Given the description of an element on the screen output the (x, y) to click on. 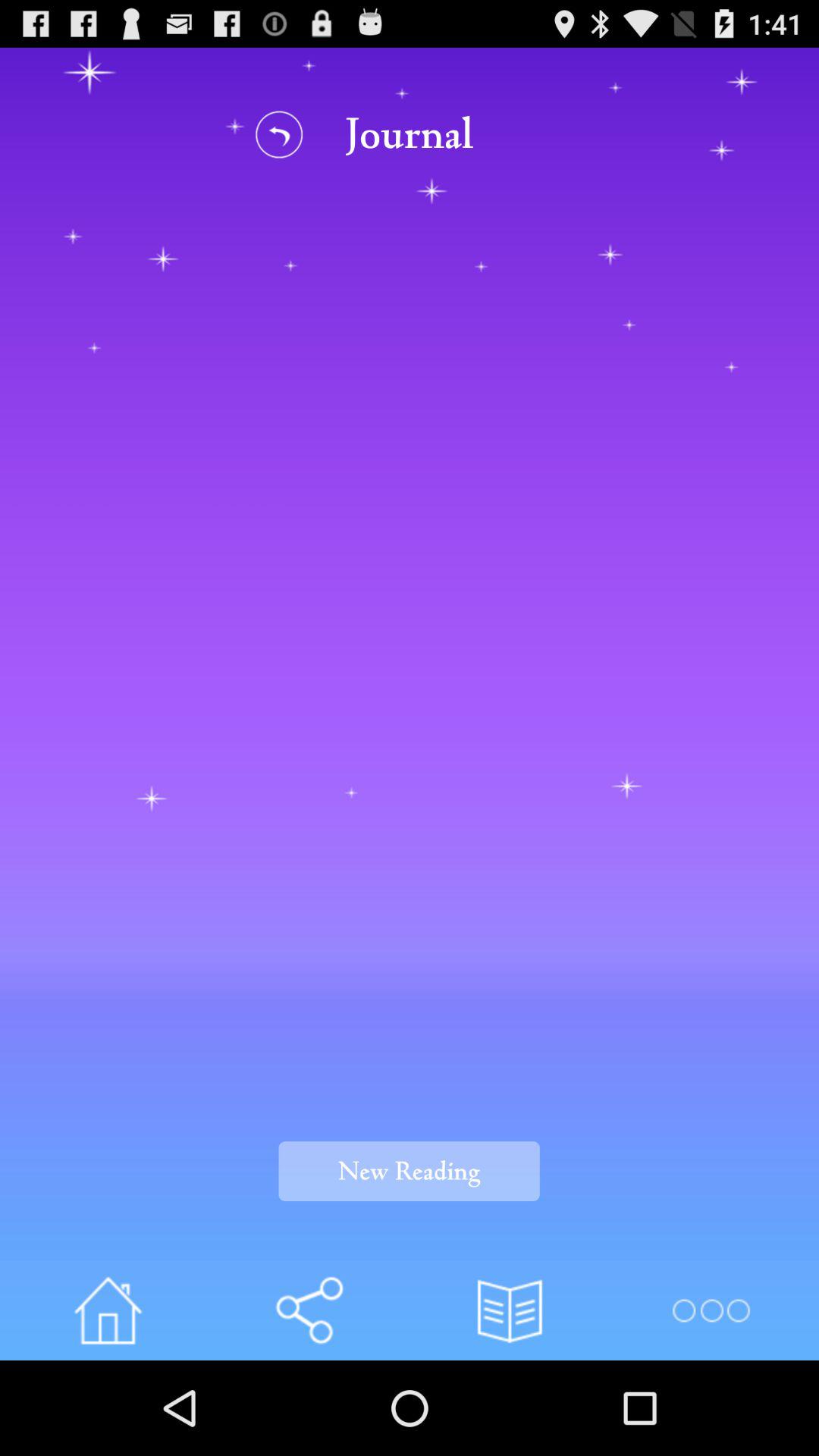
go back (279, 133)
